Given the description of an element on the screen output the (x, y) to click on. 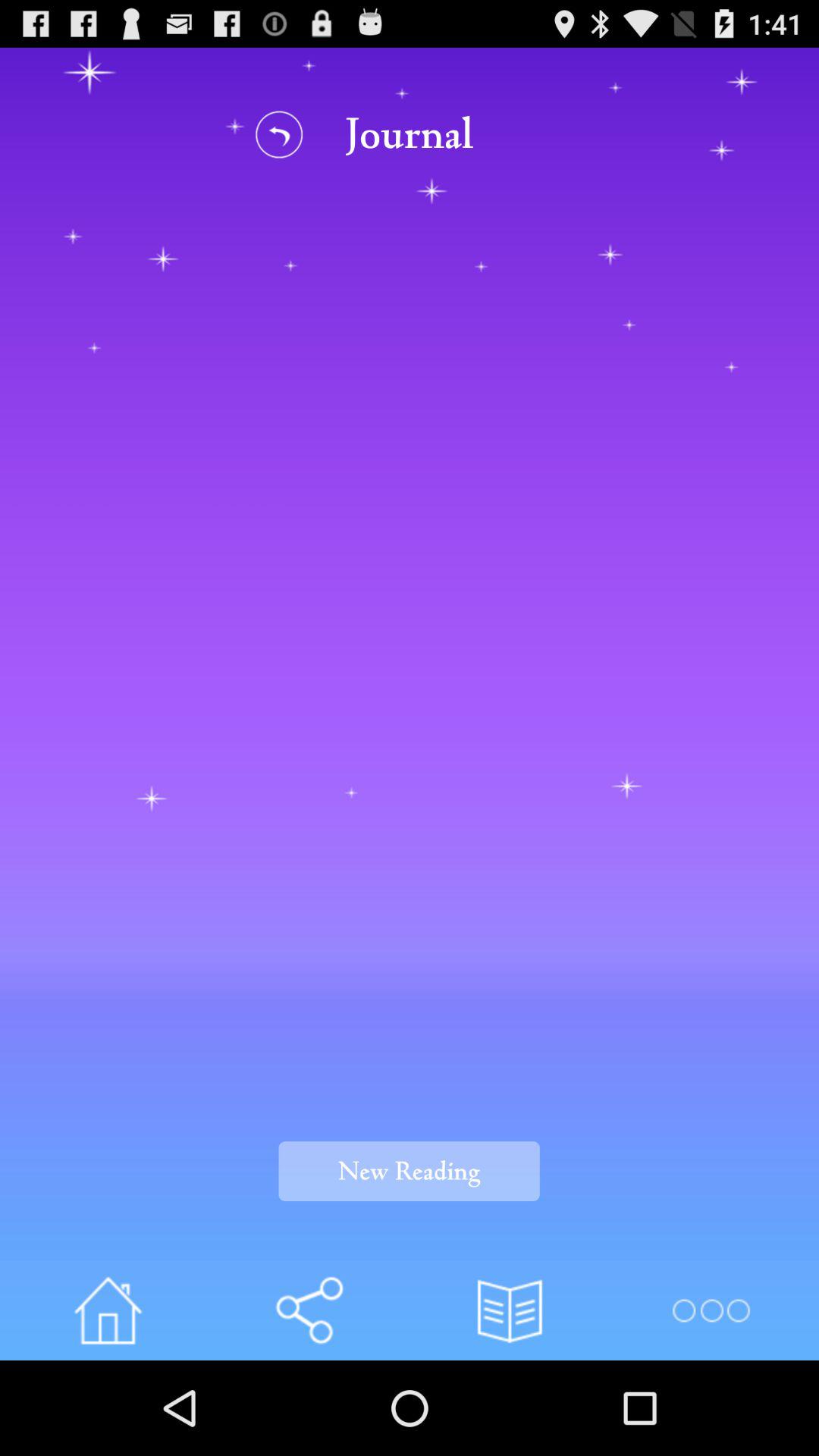
go back (279, 133)
